Given the description of an element on the screen output the (x, y) to click on. 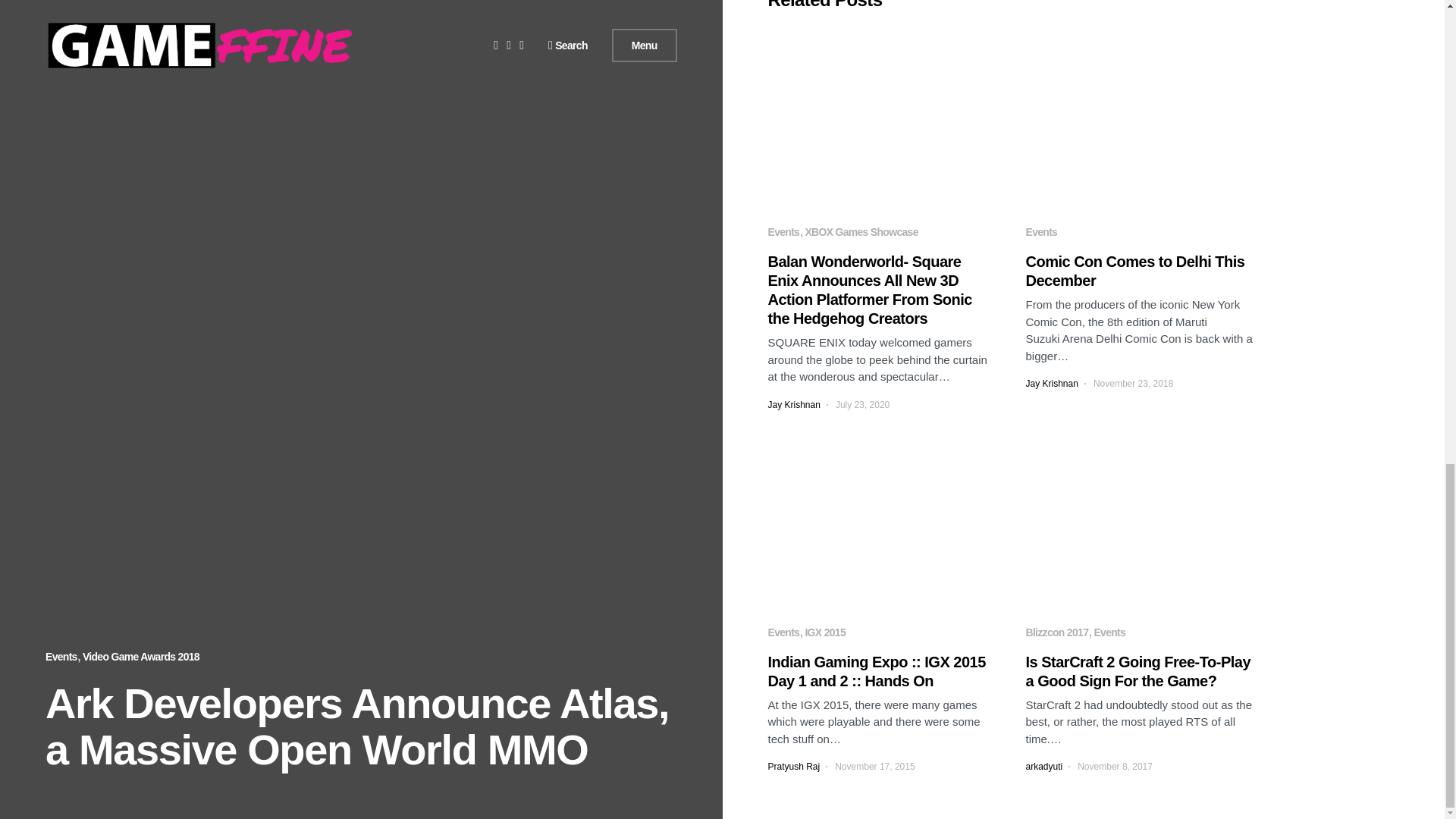
View all posts by Jay Krishnan (793, 404)
View all posts by arkadyuti (1043, 766)
View all posts by Pratyush Raj (793, 766)
View all posts by Jay Krishnan (1051, 383)
